Given the description of an element on the screen output the (x, y) to click on. 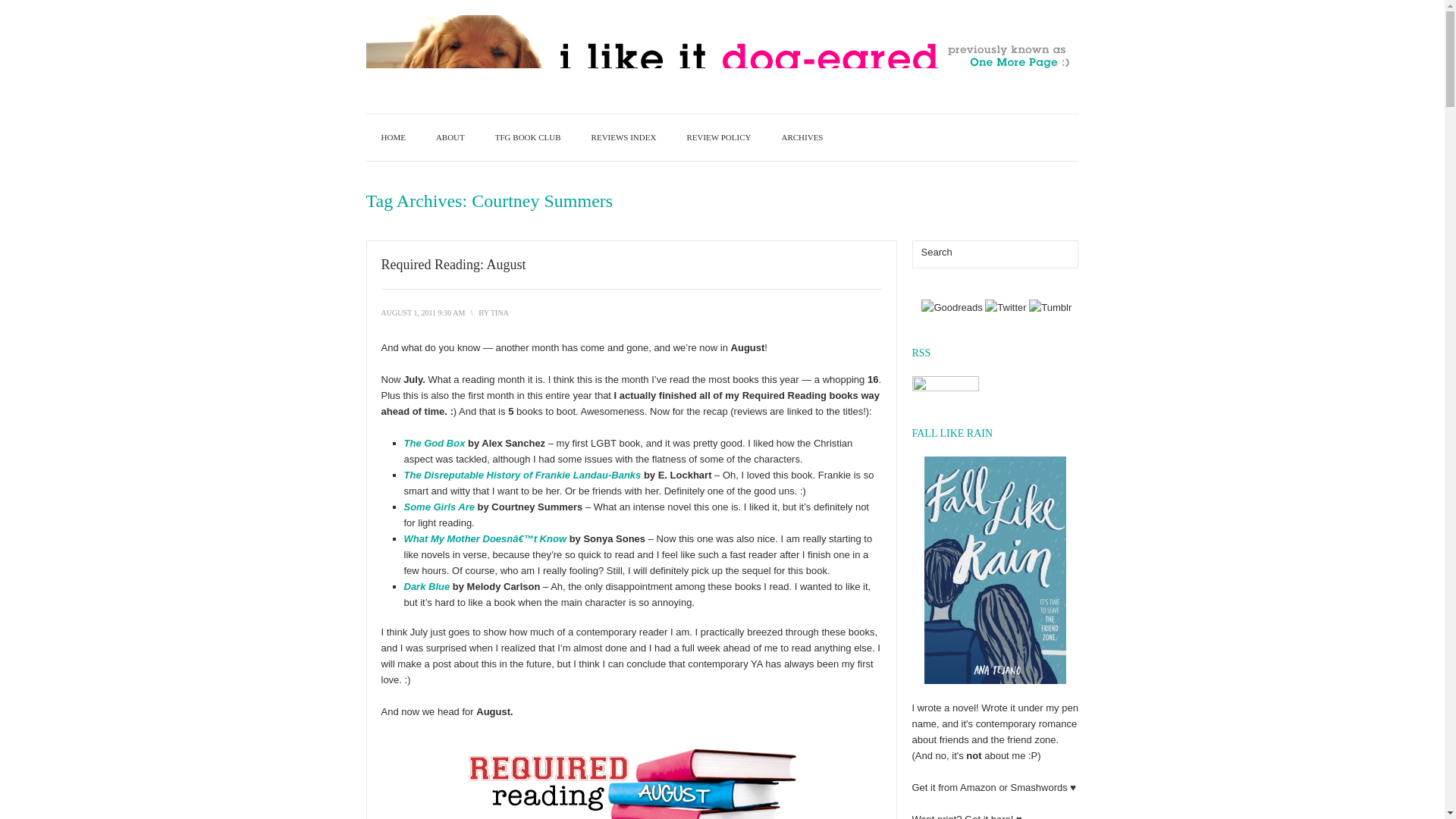
REVIEW POLICY (718, 137)
ARCHIVES (801, 137)
Some Girls Are (438, 506)
Some Girls Are (438, 506)
The God Box (433, 442)
TINA (499, 312)
Required Reading: August (452, 264)
Required Reading: August (422, 312)
omp-rr-08 (631, 777)
AUGUST 1, 2011 9:30 AM (422, 312)
